Given the description of an element on the screen output the (x, y) to click on. 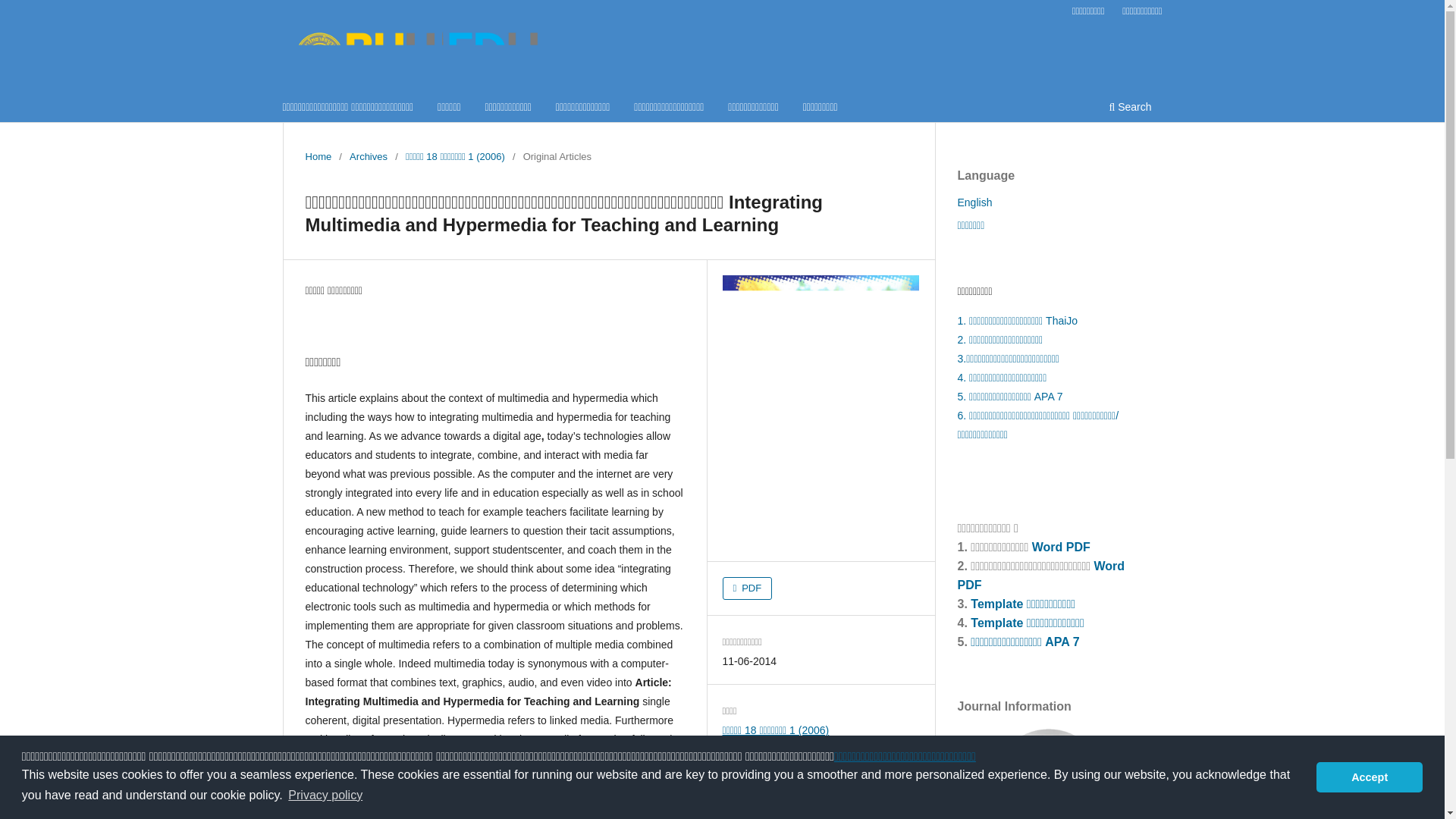
Archives (368, 156)
Accept (1369, 777)
Search (1129, 108)
Privacy policy (325, 794)
PDF (1077, 546)
PDF (747, 588)
Word (1047, 546)
English (973, 202)
PDF (968, 584)
Home (317, 156)
